Given the description of an element on the screen output the (x, y) to click on. 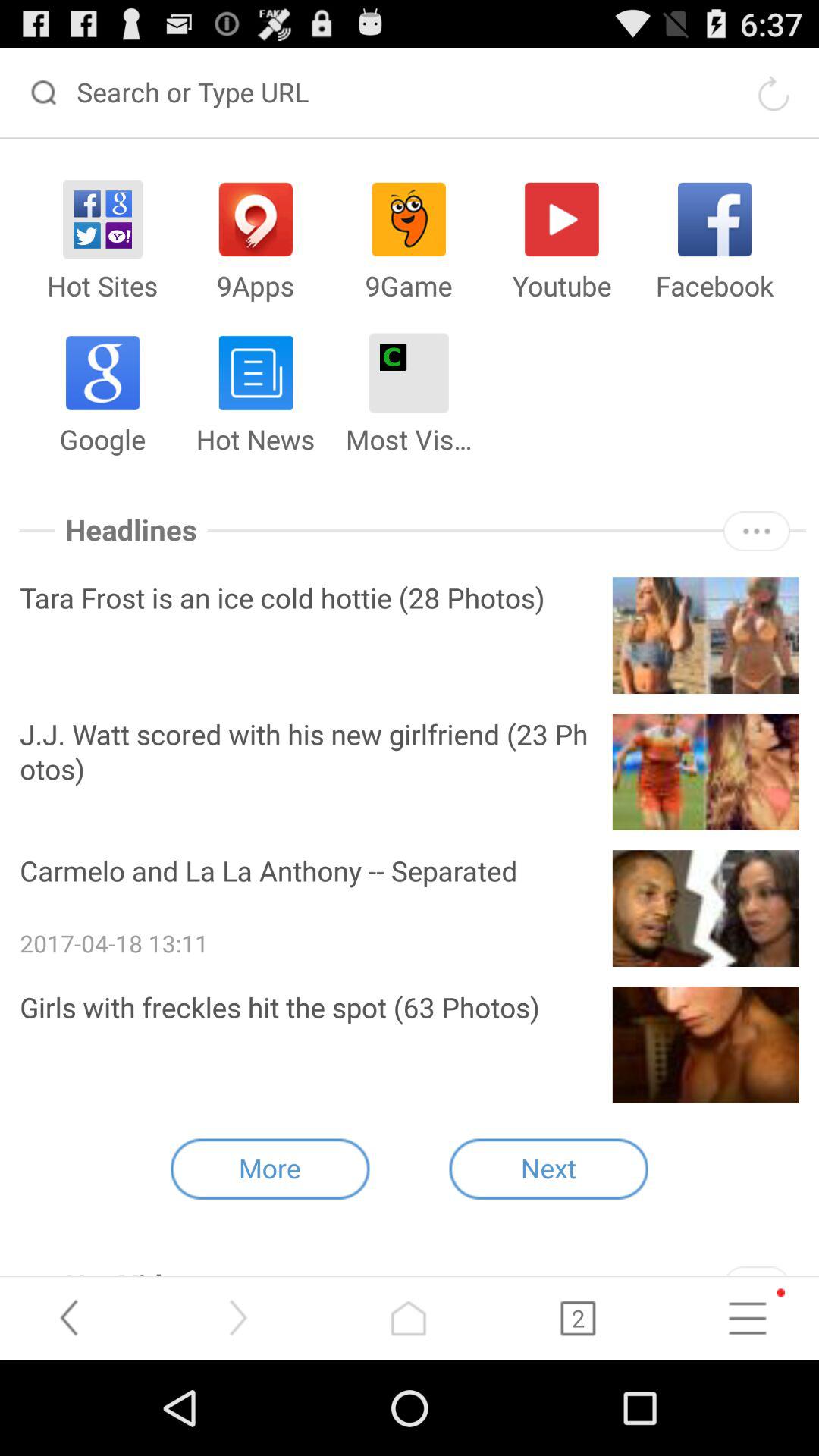
click on the image to the right of the text tara frost is an ice cold hottie28 photos (705, 635)
